Given the description of an element on the screen output the (x, y) to click on. 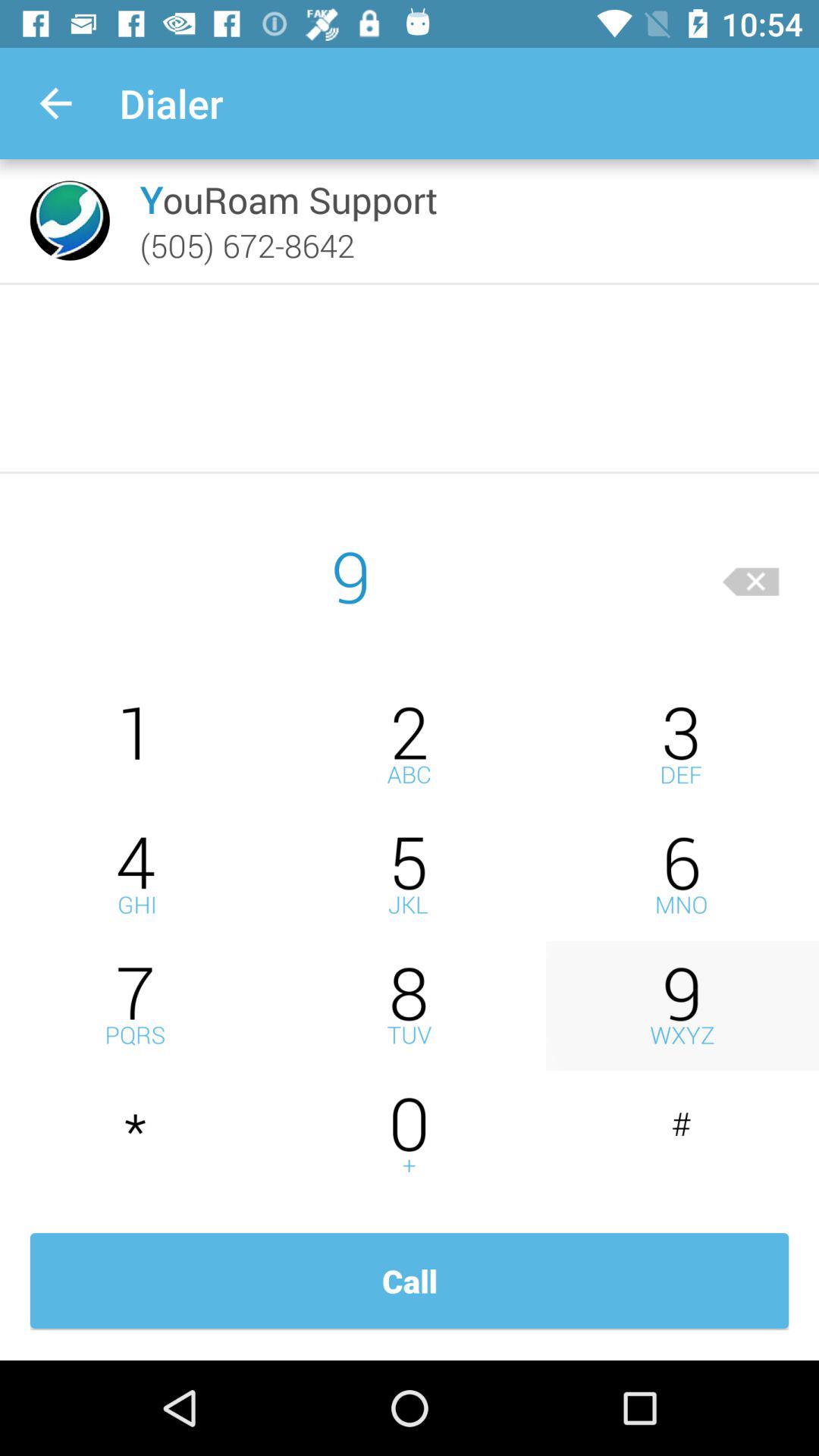
click number 7 (136, 1005)
